Given the description of an element on the screen output the (x, y) to click on. 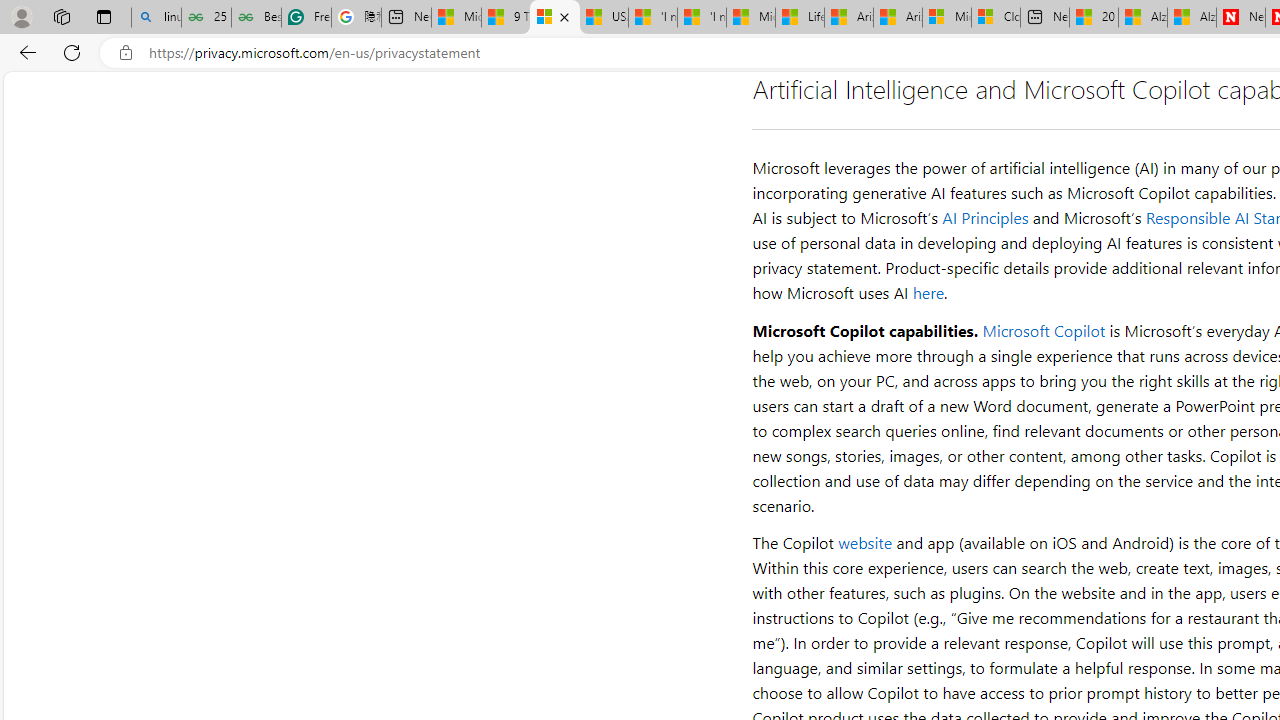
Free AI Writing Assistance for Students | Grammarly (306, 17)
Lifestyle - MSN (799, 17)
AI Principles (985, 217)
Newsweek - News, Analysis, Politics, Business, Technology (1240, 17)
linux basic - Search (155, 17)
